Given the description of an element on the screen output the (x, y) to click on. 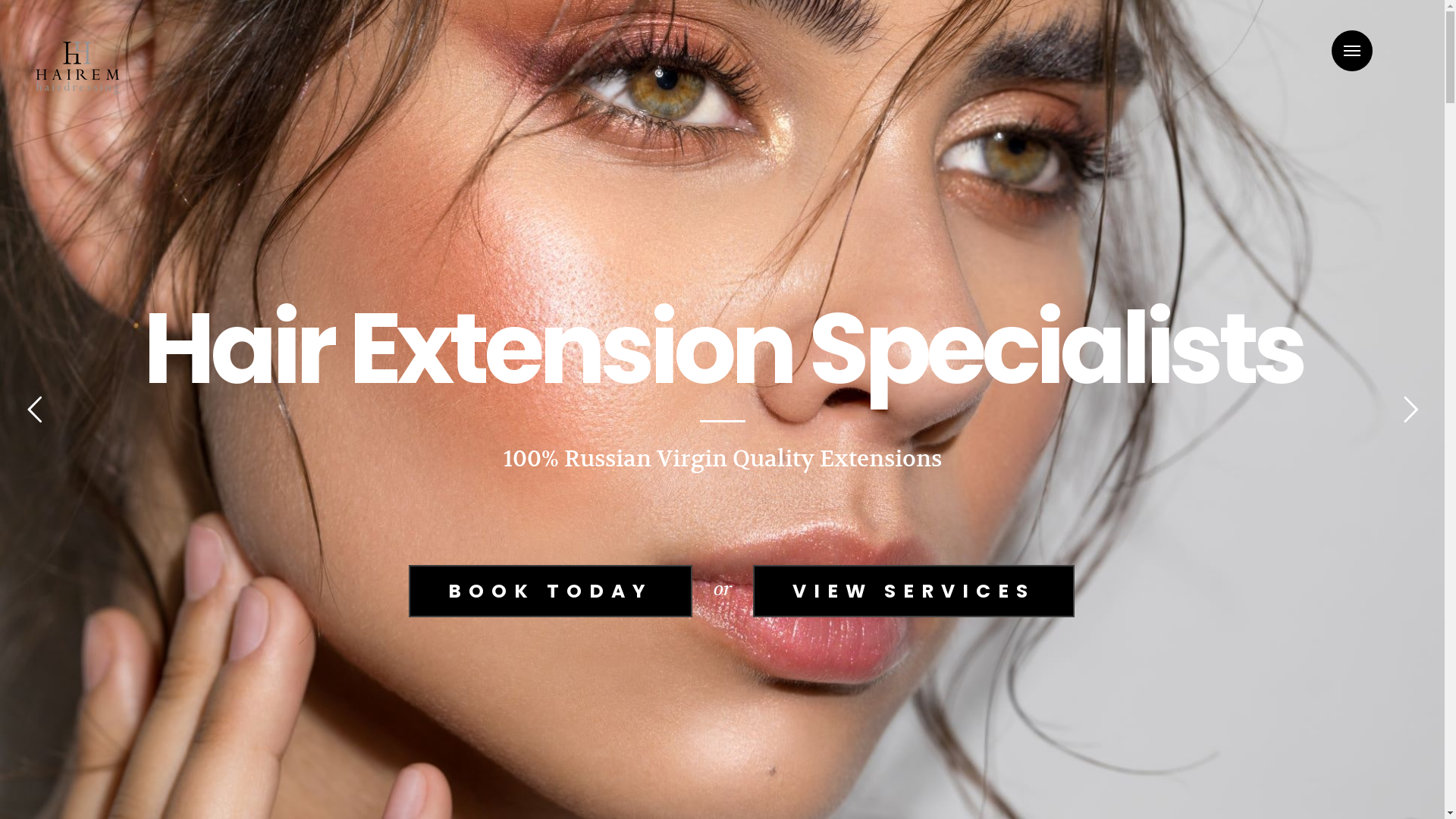
Menu Element type: text (1351, 50)
